Given the description of an element on the screen output the (x, y) to click on. 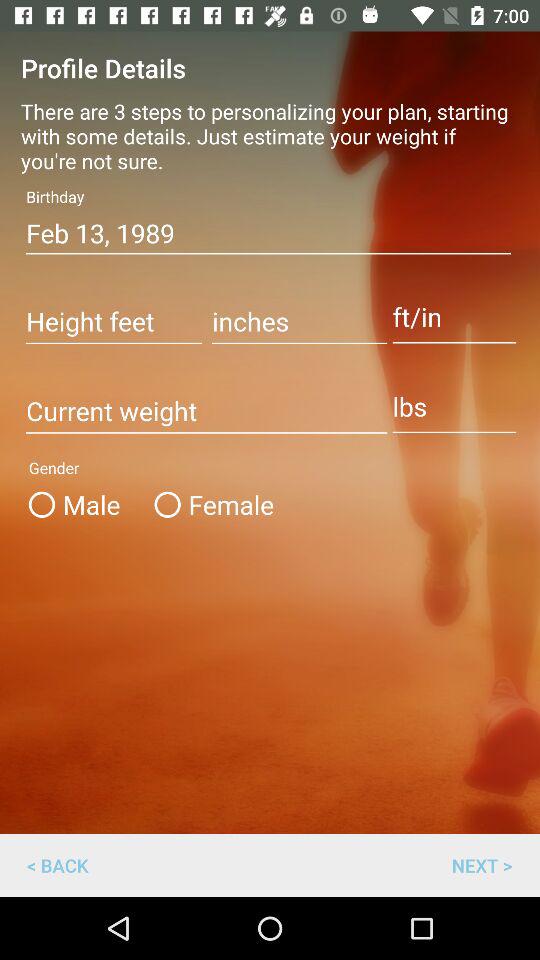
turn on the feb 13, 1989 (268, 233)
